Given the description of an element on the screen output the (x, y) to click on. 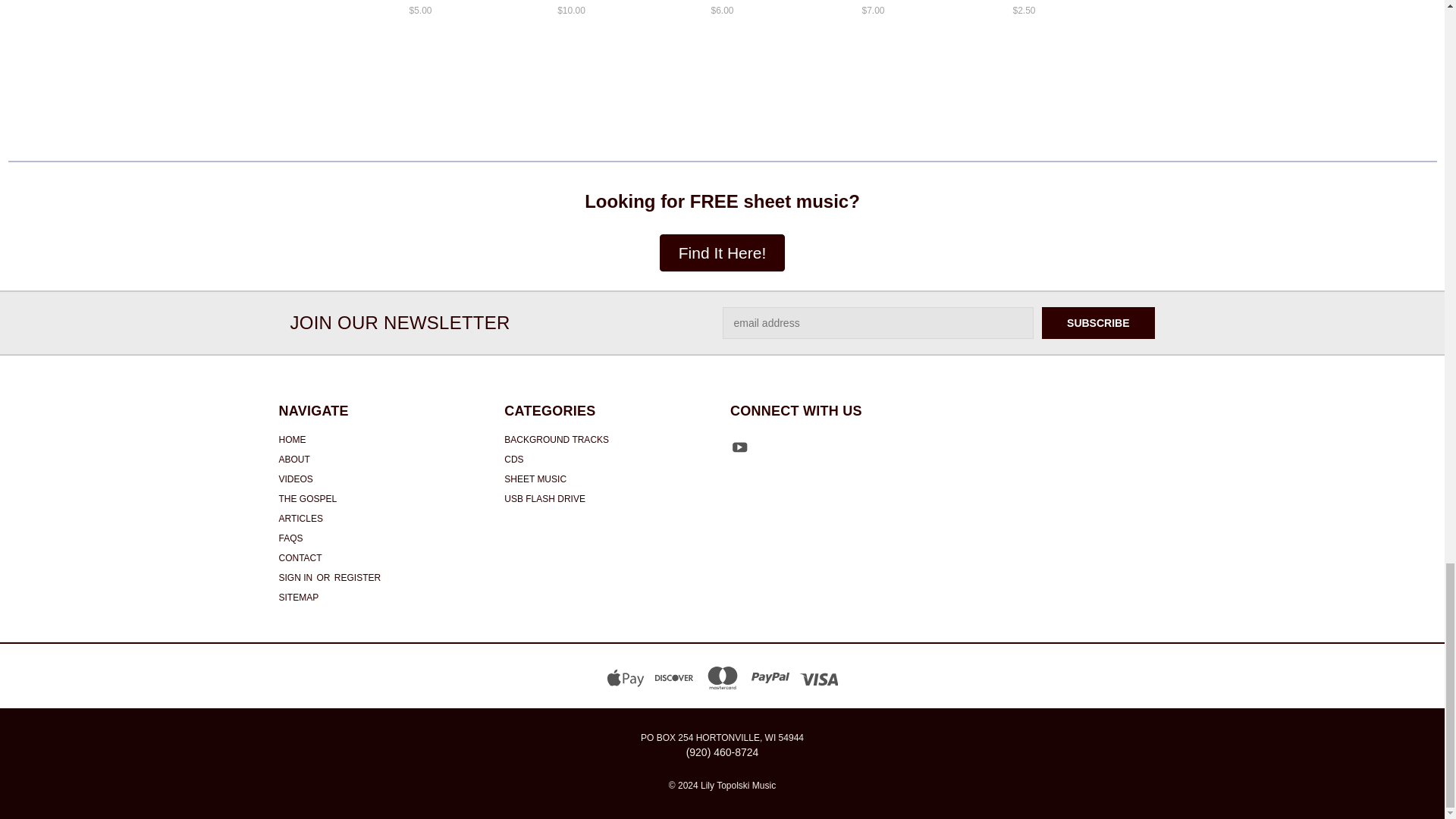
Subscribe (1098, 323)
